Given the description of an element on the screen output the (x, y) to click on. 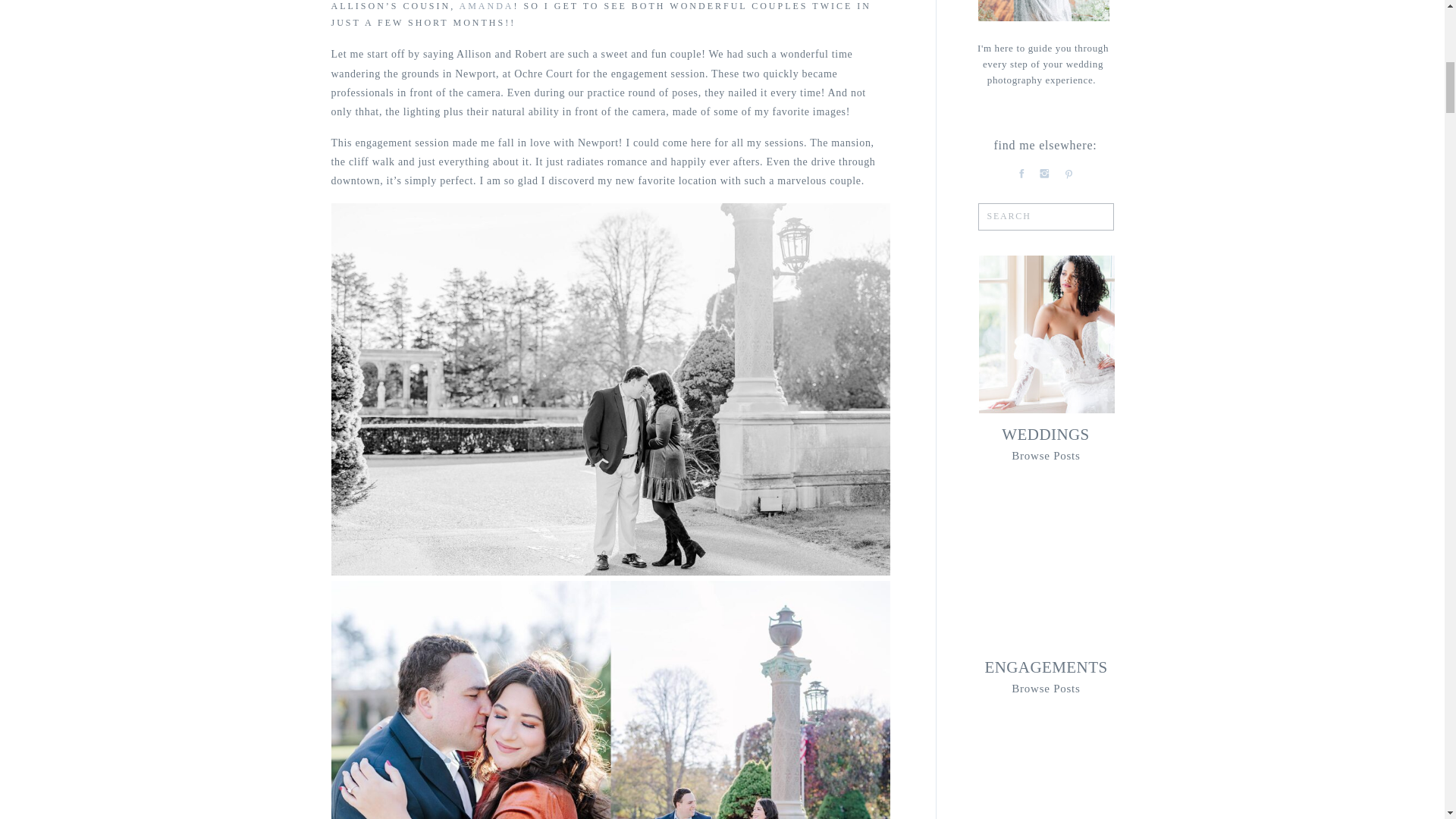
ENGAGEMENTS (1046, 663)
AMANDA (486, 5)
WEDDINGS (1044, 434)
Browse Posts (1046, 454)
Browse Posts (1046, 687)
